Given the description of an element on the screen output the (x, y) to click on. 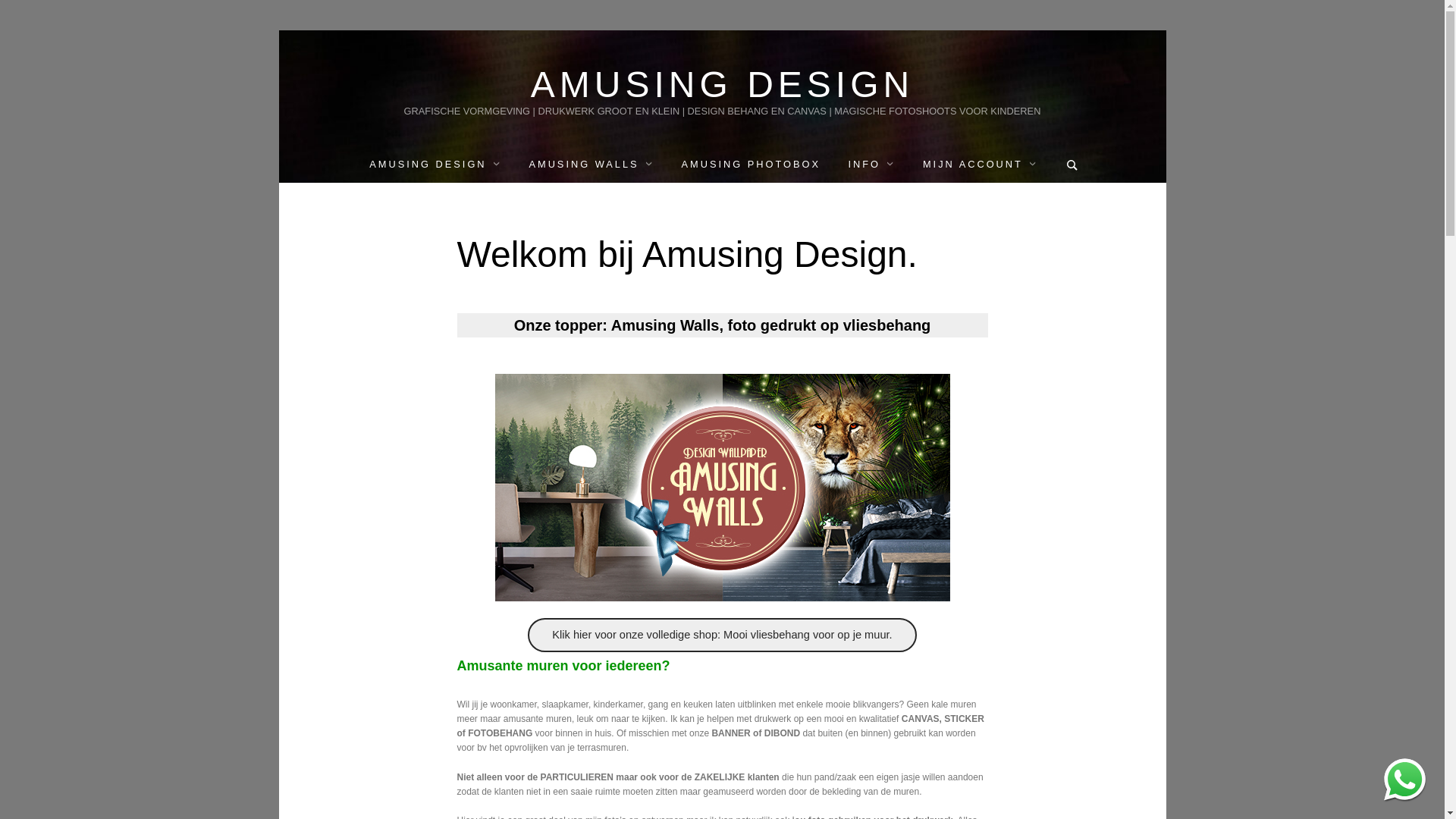
AMUSING DESIGN Element type: text (434, 163)
INFO Element type: text (871, 163)
AMUSING PHOTOBOX Element type: text (750, 163)
Heb je een vraag? Element type: hover (1404, 778)
MIJN ACCOUNT Element type: text (979, 163)
AMUSING WALLS Element type: text (590, 163)
AMUSING DESIGN Element type: text (722, 84)
Doorgaan naar inhoud Element type: text (277, 29)
